Given the description of an element on the screen output the (x, y) to click on. 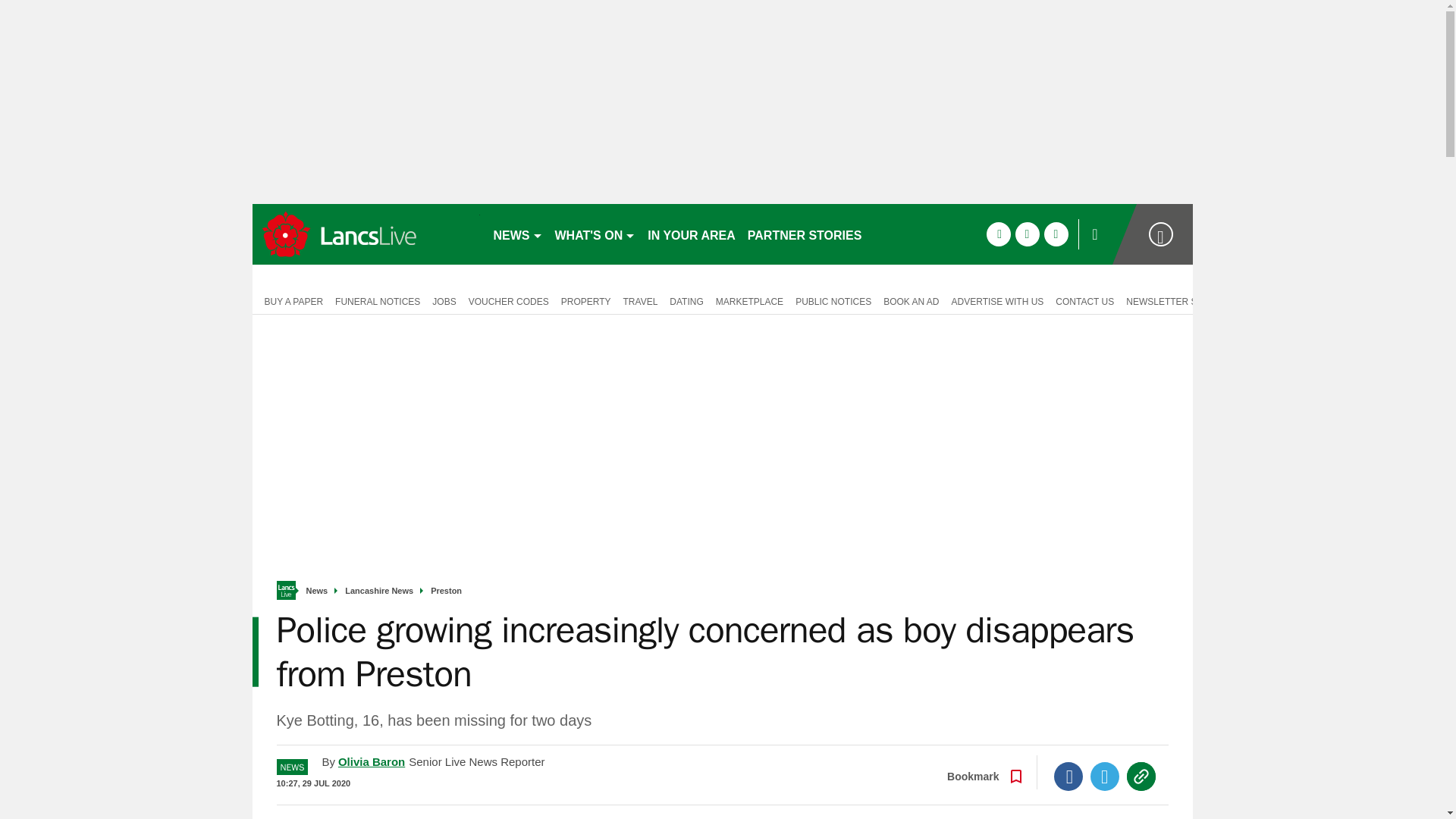
VOUCHER CODES (508, 300)
TRAVEL (640, 300)
DATING (686, 300)
BUY A PAPER (290, 300)
BOOK AN AD (910, 300)
JOBS (443, 300)
NEWS (517, 233)
twitter (1026, 233)
facebook (997, 233)
accrington (365, 233)
PROPERTY (585, 300)
IN YOUR AREA (691, 233)
Facebook (1068, 776)
ADVERTISE WITH US (996, 300)
MARKETPLACE (749, 300)
